Given the description of an element on the screen output the (x, y) to click on. 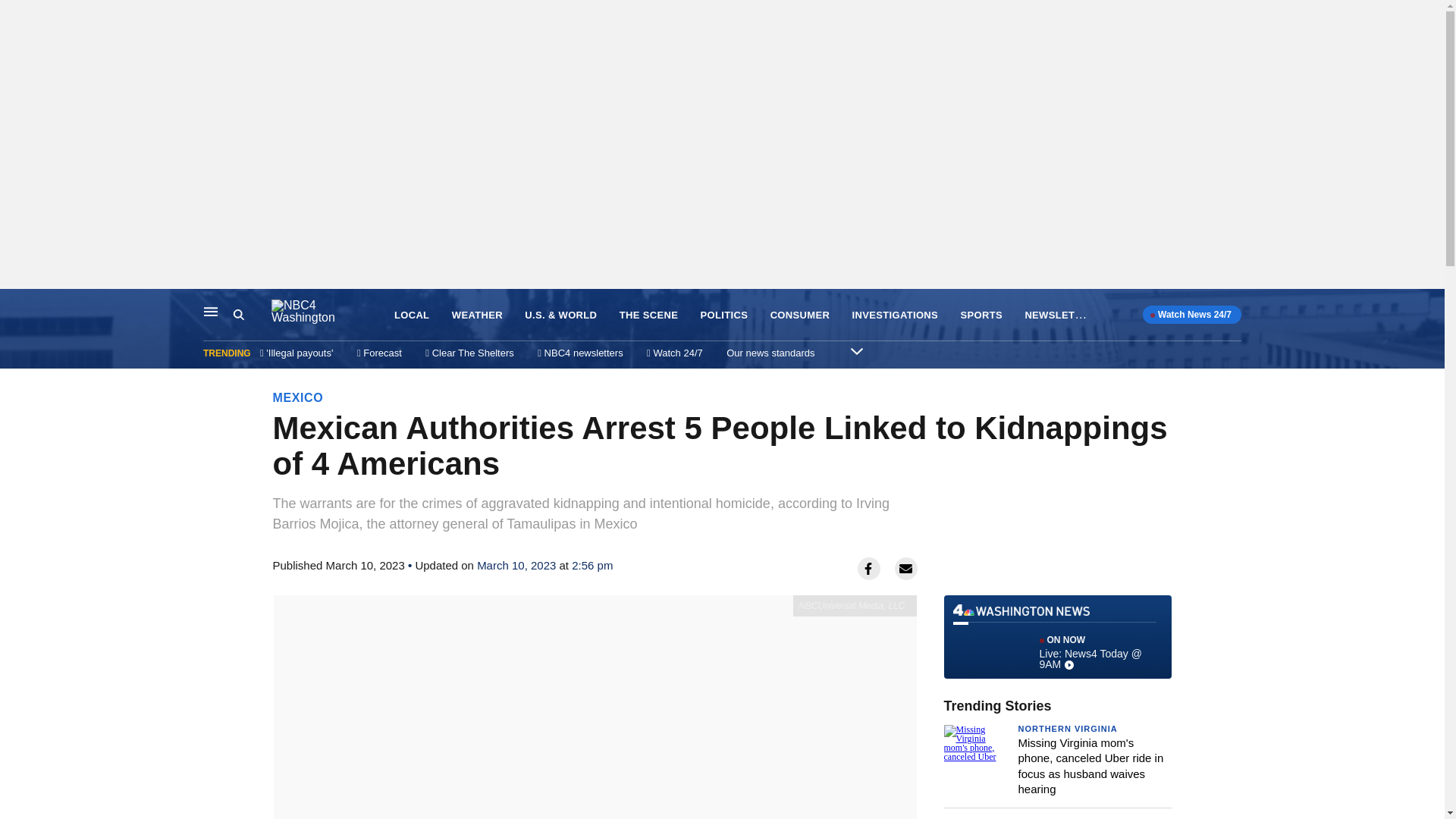
Skip to content (16, 304)
Search (238, 314)
NEWSLETTERS (1063, 314)
CONSUMER (799, 315)
WEATHER (476, 315)
THE SCENE (649, 315)
MEXICO (298, 397)
LOCAL (411, 315)
Main Navigation (210, 311)
INVESTIGATIONS (894, 315)
